Given the description of an element on the screen output the (x, y) to click on. 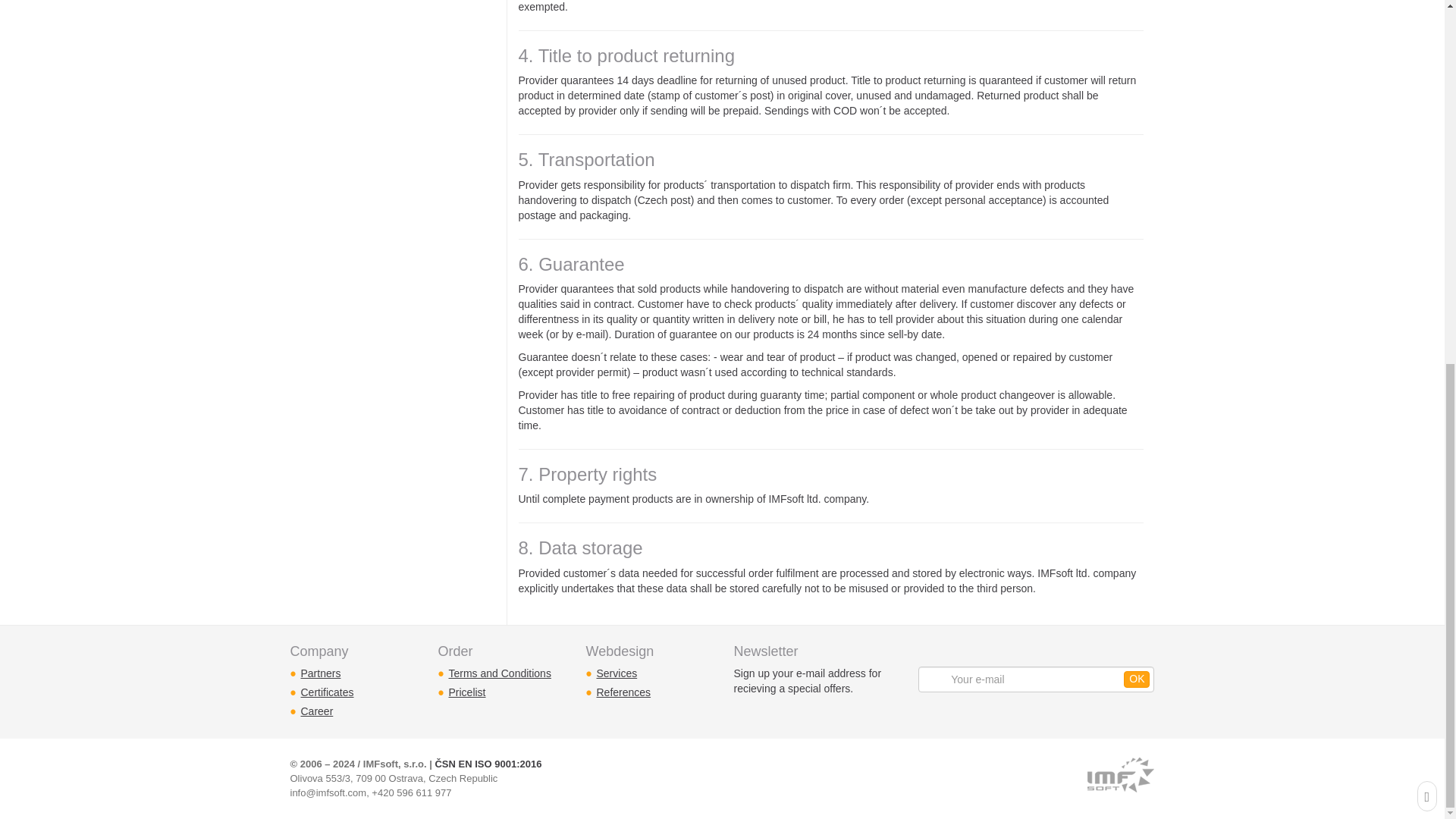
Pricelist (467, 692)
OK (1137, 678)
Partners (319, 673)
Facebook (955, 780)
Services (616, 673)
Certificates (326, 692)
YouTube (990, 780)
Career (316, 711)
References (622, 692)
Terms and Conditions (499, 673)
